Given the description of an element on the screen output the (x, y) to click on. 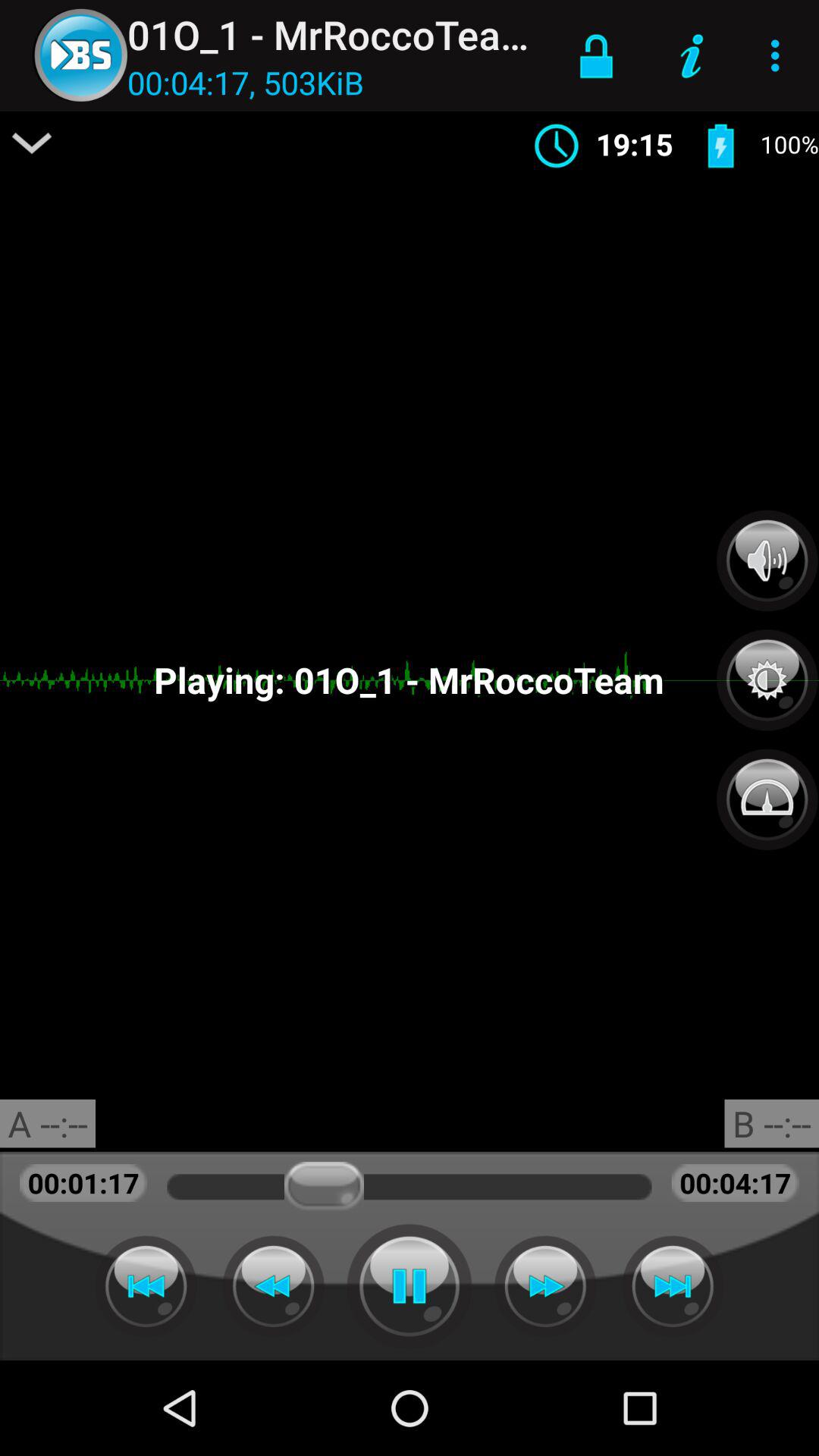
select forward (672, 1286)
